Given the description of an element on the screen output the (x, y) to click on. 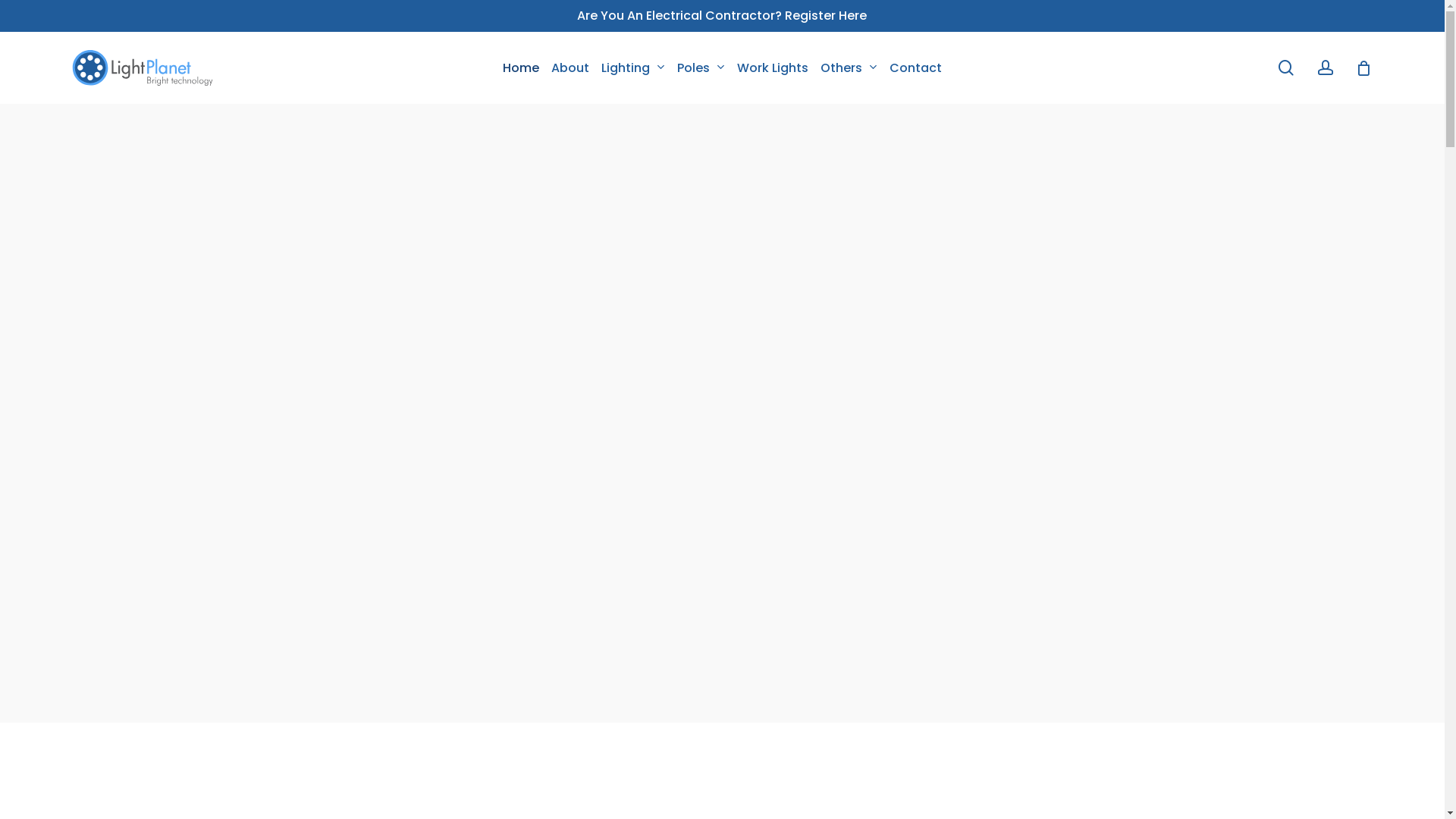
Home Element type: text (520, 67)
Poles Element type: text (701, 68)
Are You An Electrical Contractor? Register Here Element type: text (721, 15)
Lighting Element type: text (633, 68)
account Element type: text (1325, 67)
Others Element type: text (848, 68)
Work Lights Element type: text (772, 67)
search Element type: text (1286, 67)
About Element type: text (570, 67)
Contact Element type: text (915, 67)
